Given the description of an element on the screen output the (x, y) to click on. 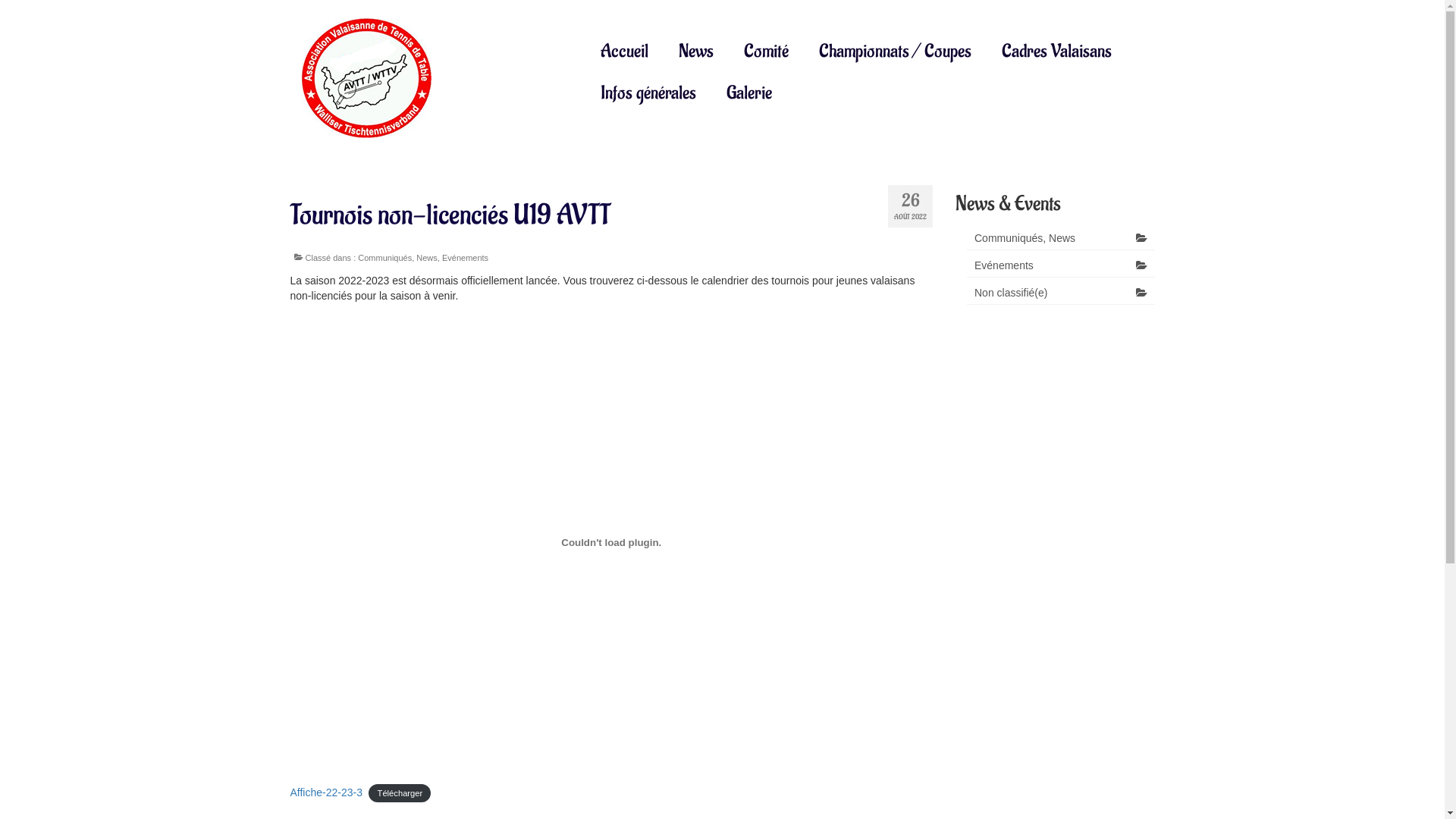
Accueil Element type: text (624, 51)
Championnats / Coupes Element type: text (894, 51)
Cadres Valaisans Element type: text (1056, 51)
News Element type: text (695, 51)
Affiche-22-23-3 Element type: text (325, 792)
Galerie Element type: text (749, 92)
